Given the description of an element on the screen output the (x, y) to click on. 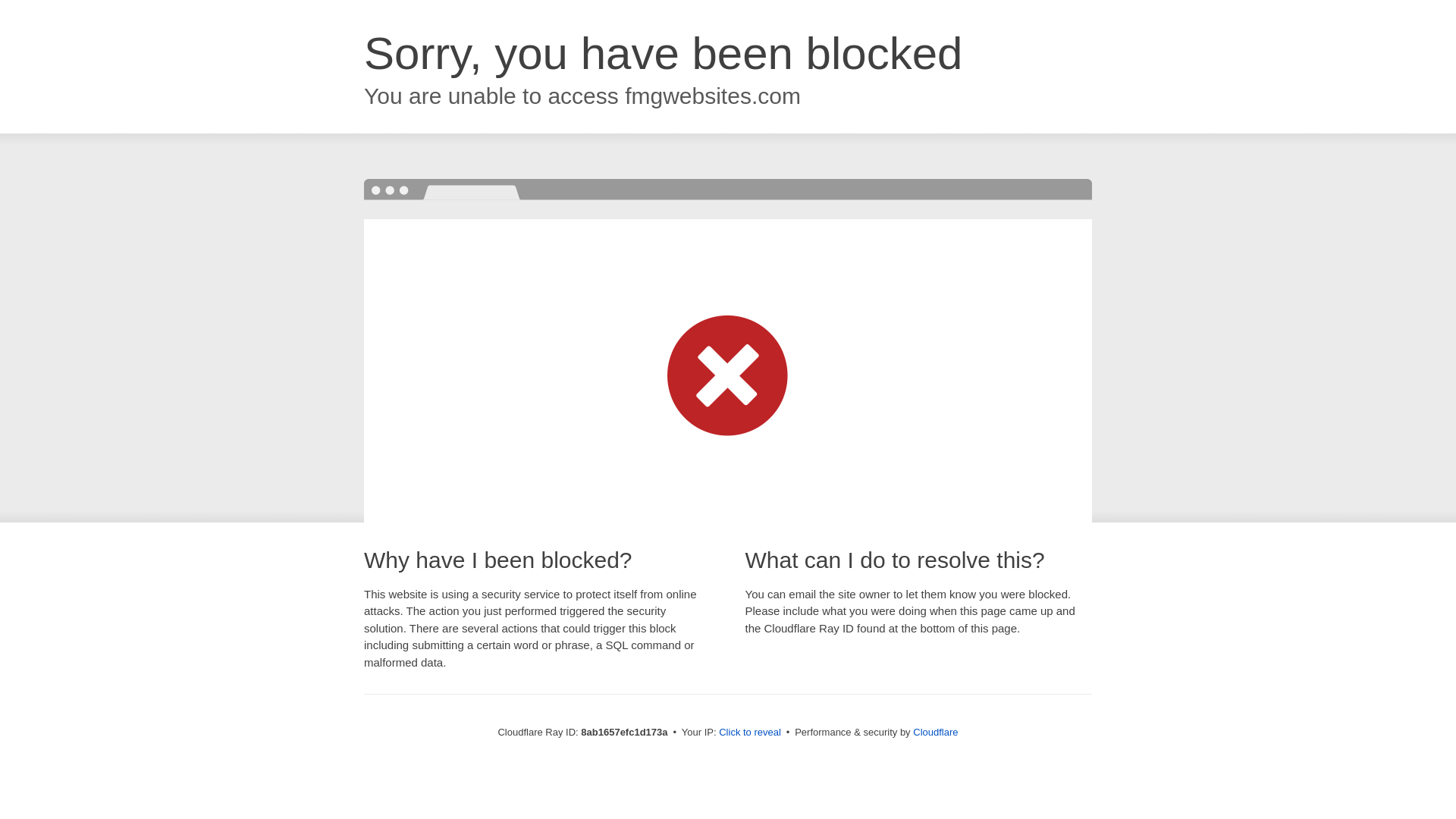
Cloudflare (935, 731)
Click to reveal (749, 732)
